Given the description of an element on the screen output the (x, y) to click on. 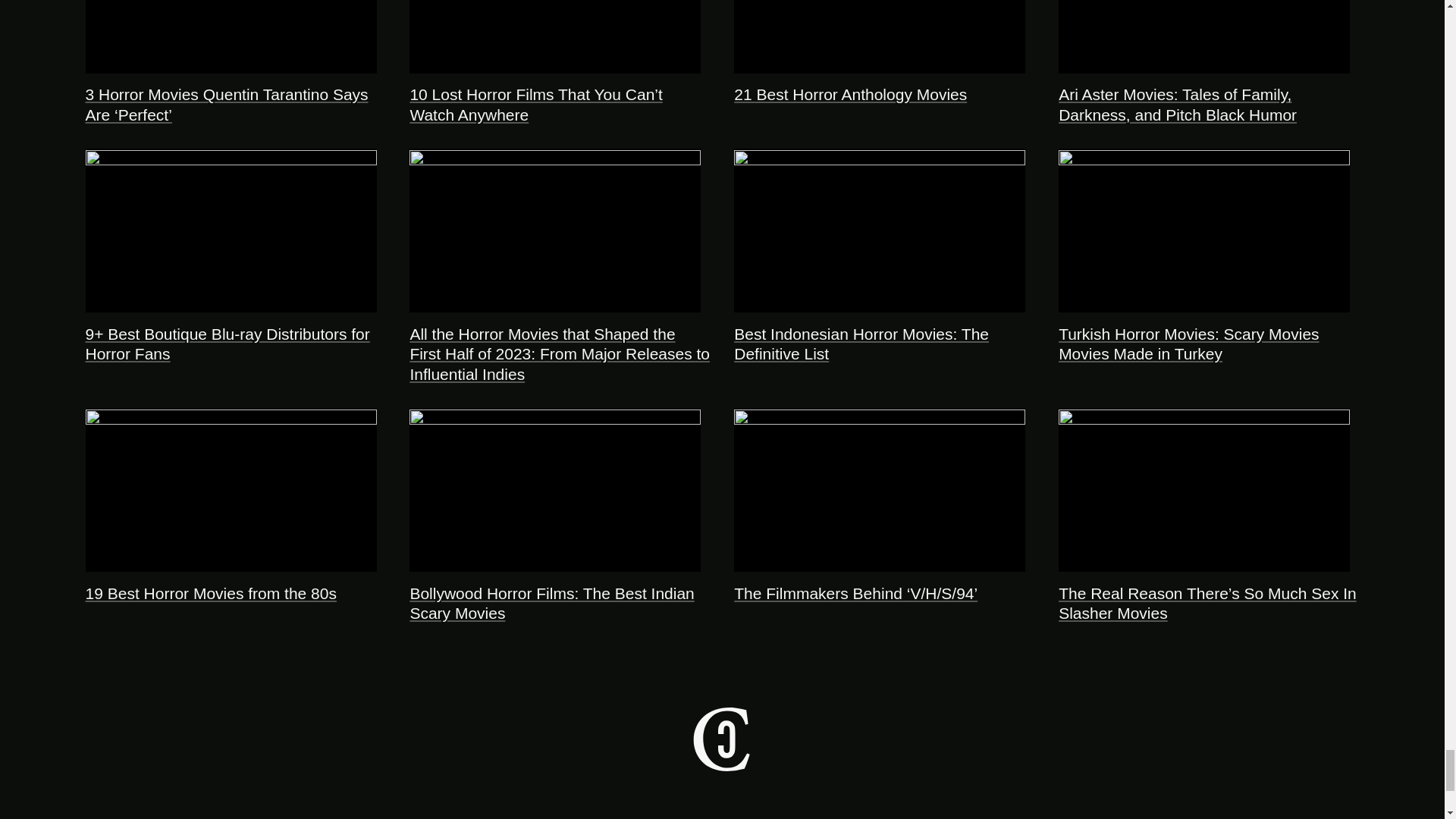
21 Best Horror Anthology Movies (849, 94)
Best Indonesian Horror Movies: The Definitive List (860, 343)
